Given the description of an element on the screen output the (x, y) to click on. 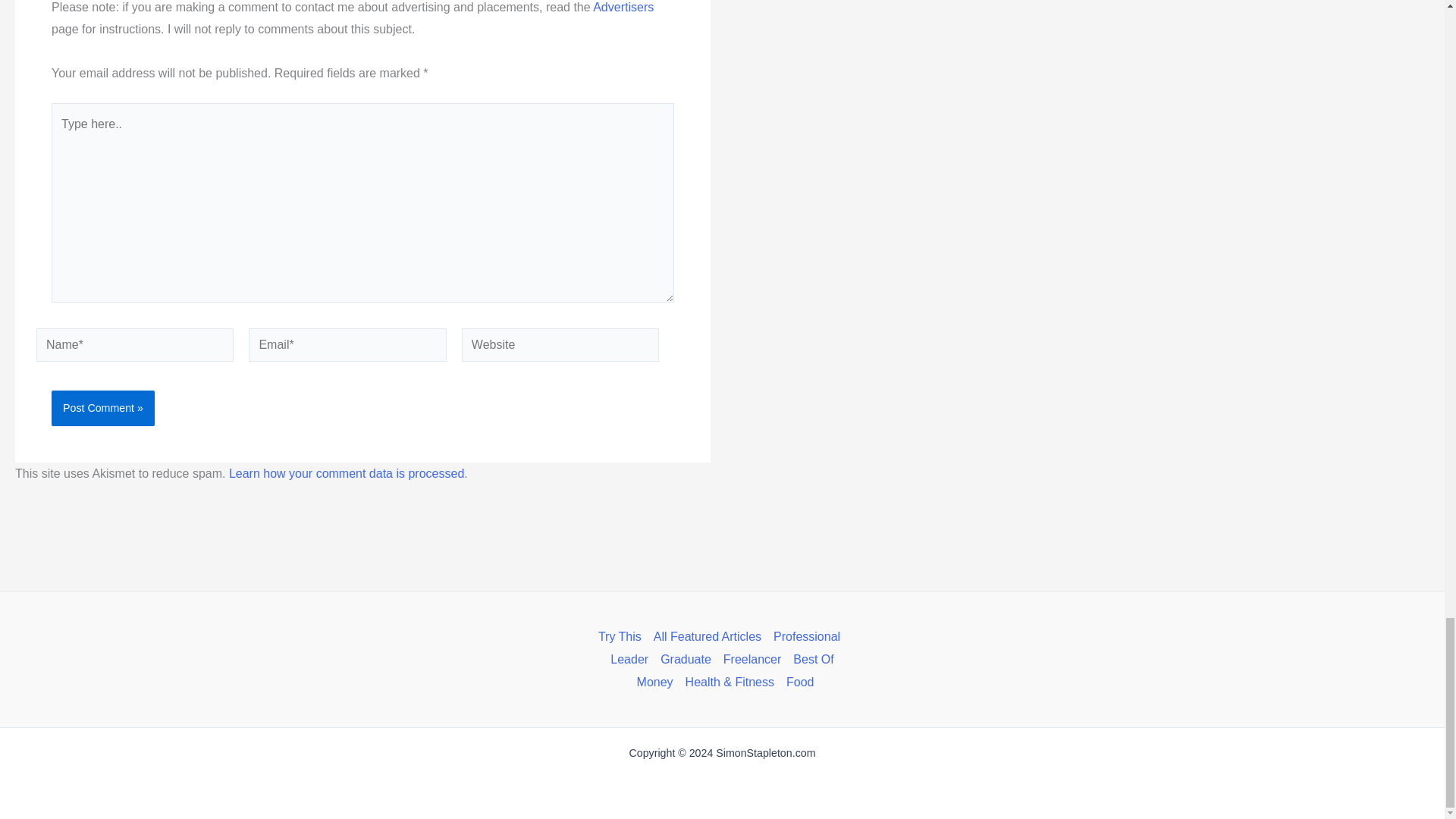
Learn how your comment data is processed (346, 472)
Advertisers (622, 6)
